Given the description of an element on the screen output the (x, y) to click on. 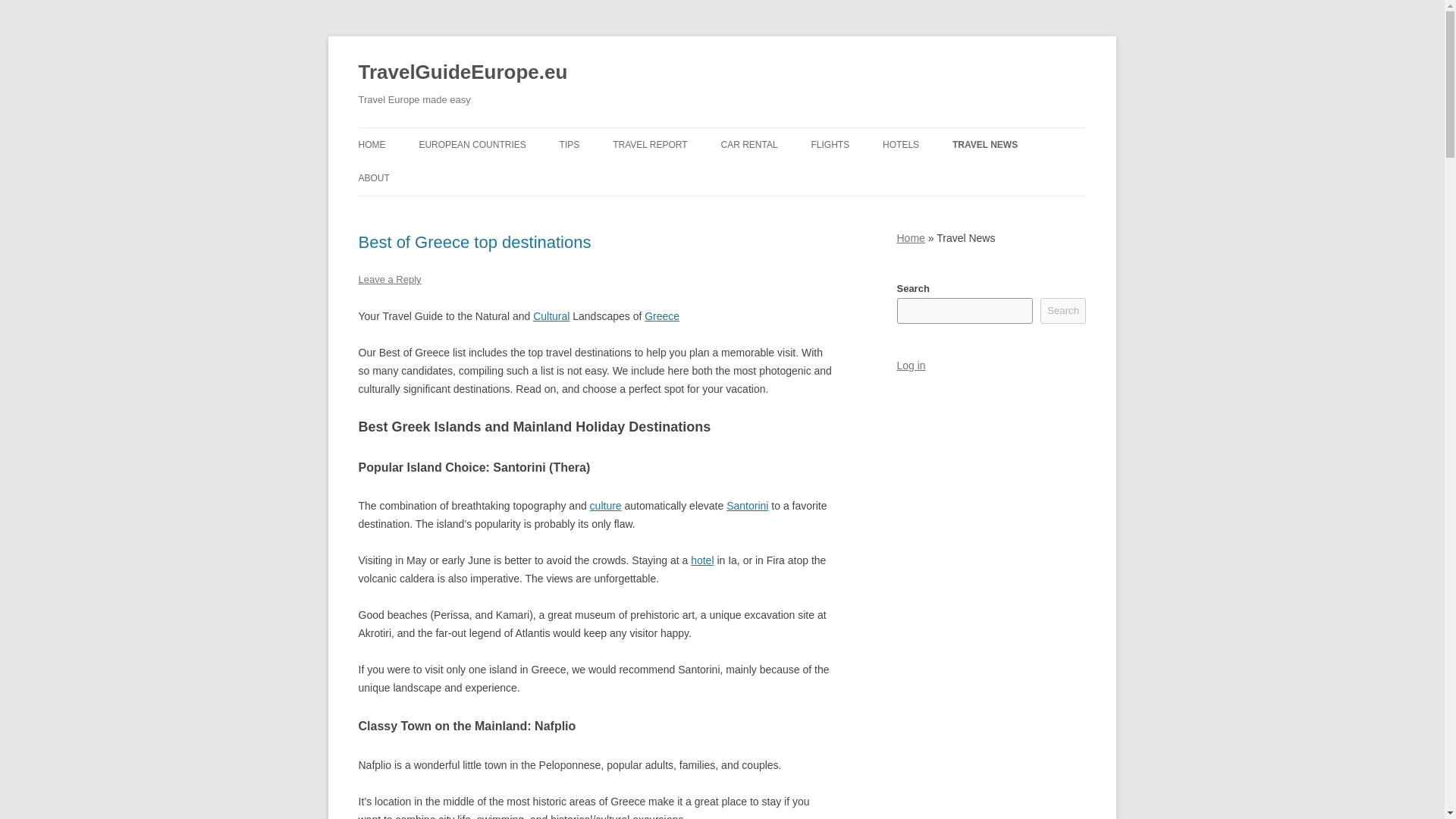
culture (605, 505)
TRAVEL NEWS (984, 144)
hotel (701, 560)
CAR RENTAL (748, 144)
Greece (662, 316)
Home (910, 237)
PRIVACY POLICY (433, 210)
Leave a Reply (389, 279)
EUROPEAN COUNTRIES (472, 144)
TRAVEL REPORT (649, 144)
